Given the description of an element on the screen output the (x, y) to click on. 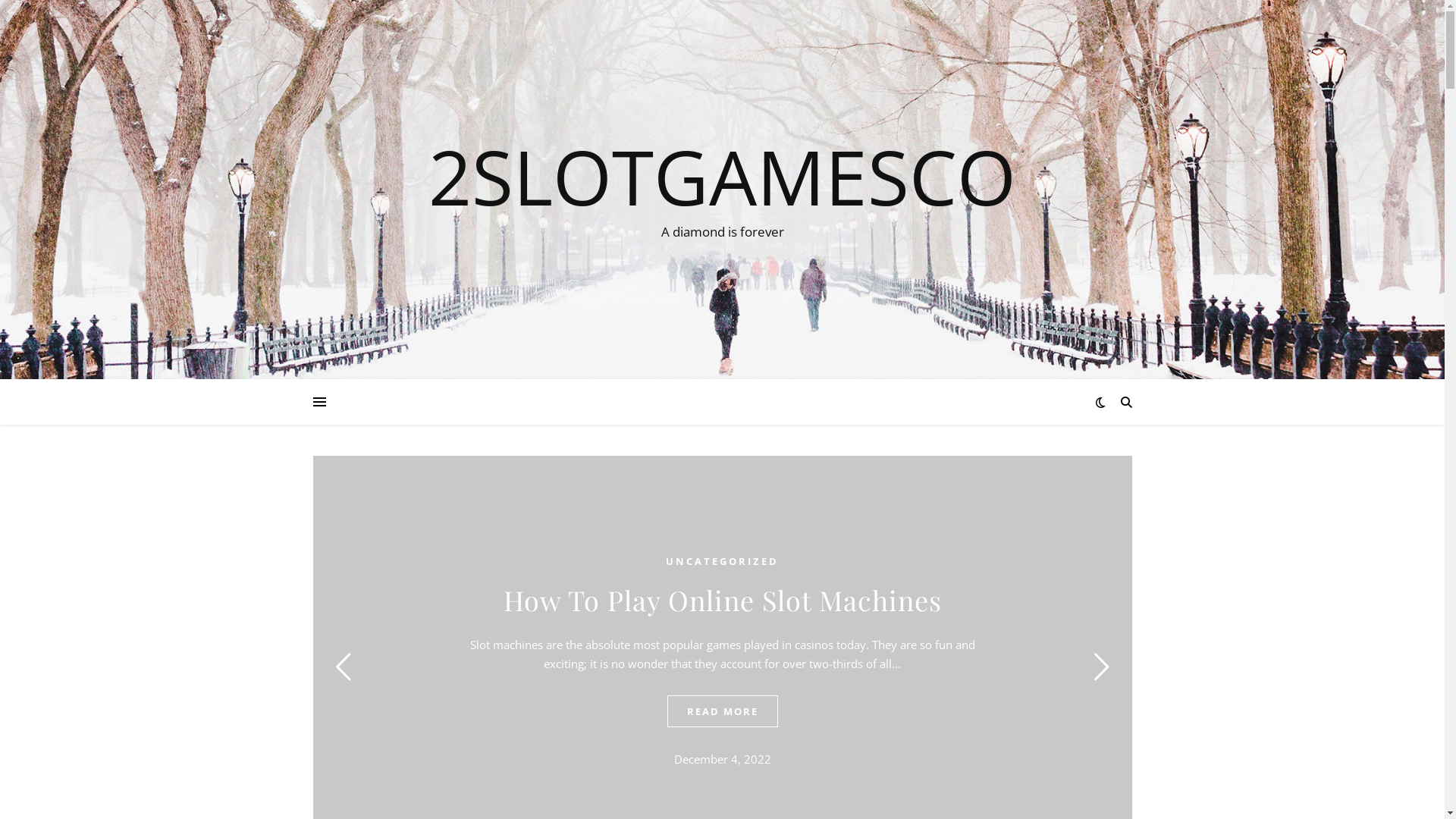
How To Play Online Slot Machines Element type: text (722, 599)
2SLOTGAMESCO Element type: text (722, 175)
READ MORE Element type: text (722, 711)
UNCATEGORIZED Element type: text (721, 560)
